Given the description of an element on the screen output the (x, y) to click on. 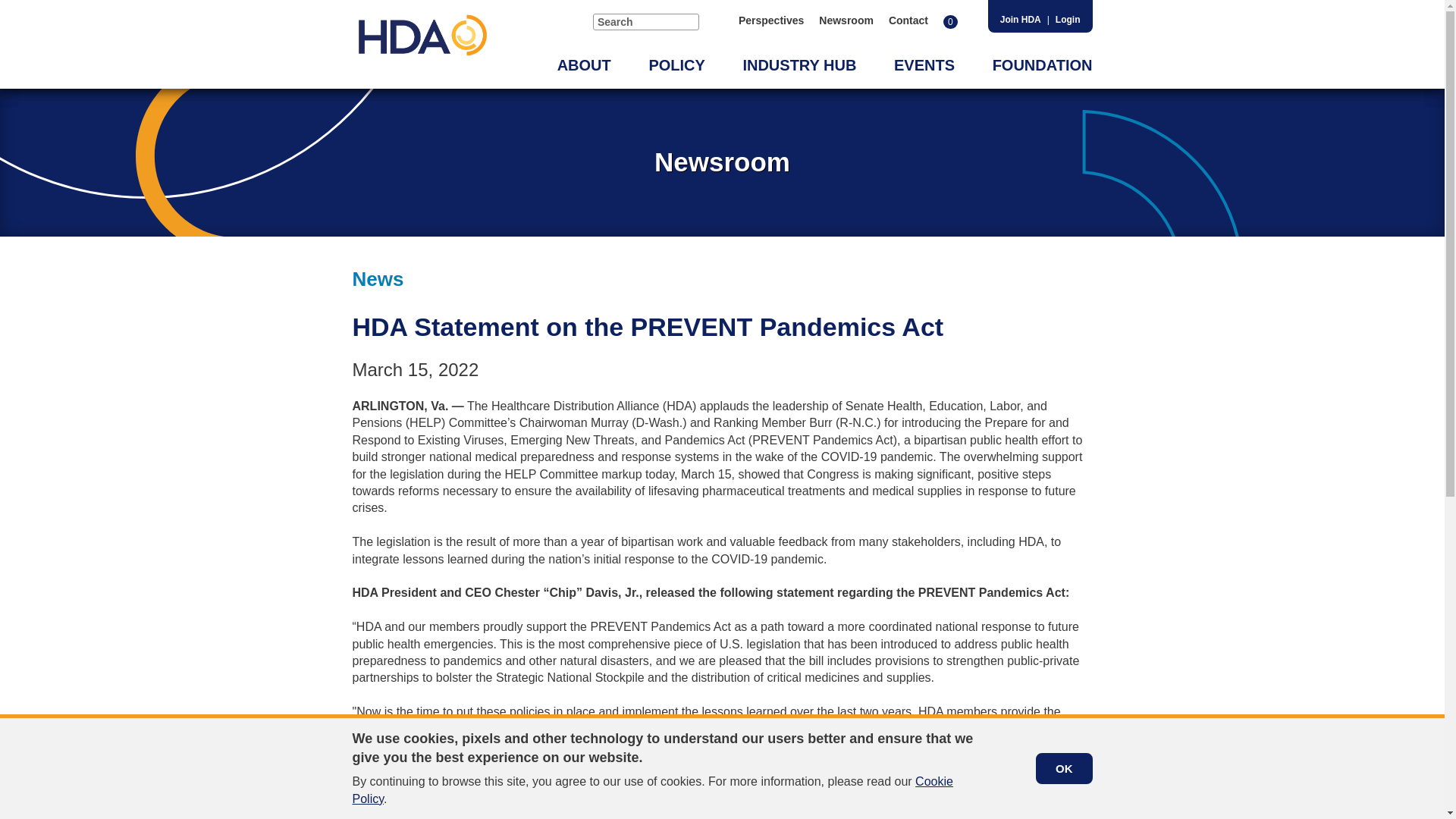
Cookie Policy (652, 789)
OK (1064, 767)
